Given the description of an element on the screen output the (x, y) to click on. 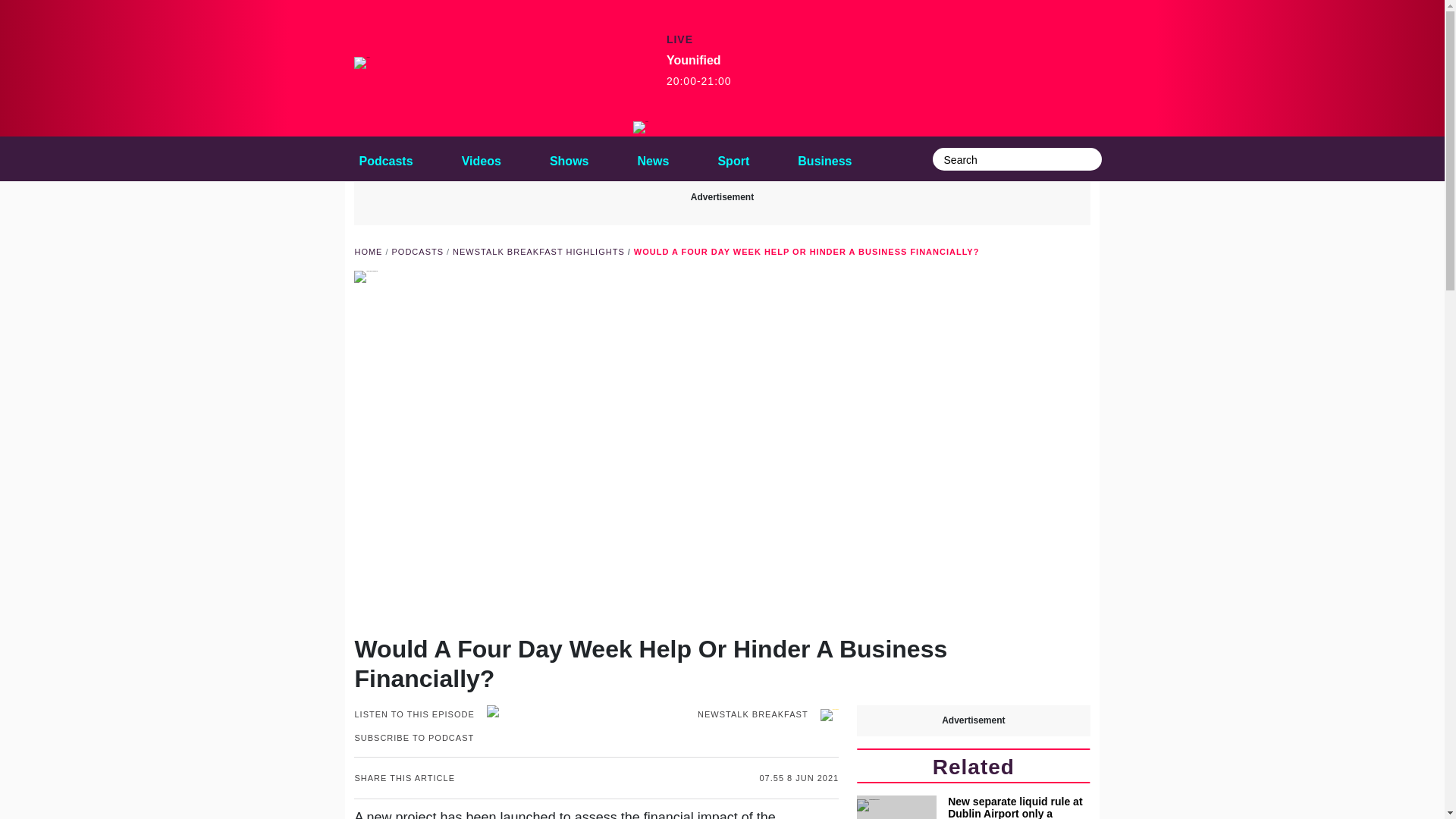
Shows (569, 158)
Younified (640, 127)
Shows (569, 158)
Sport (733, 158)
Videos (481, 158)
Sport (733, 158)
Videos (481, 158)
News (699, 70)
HOME (653, 158)
